Given the description of an element on the screen output the (x, y) to click on. 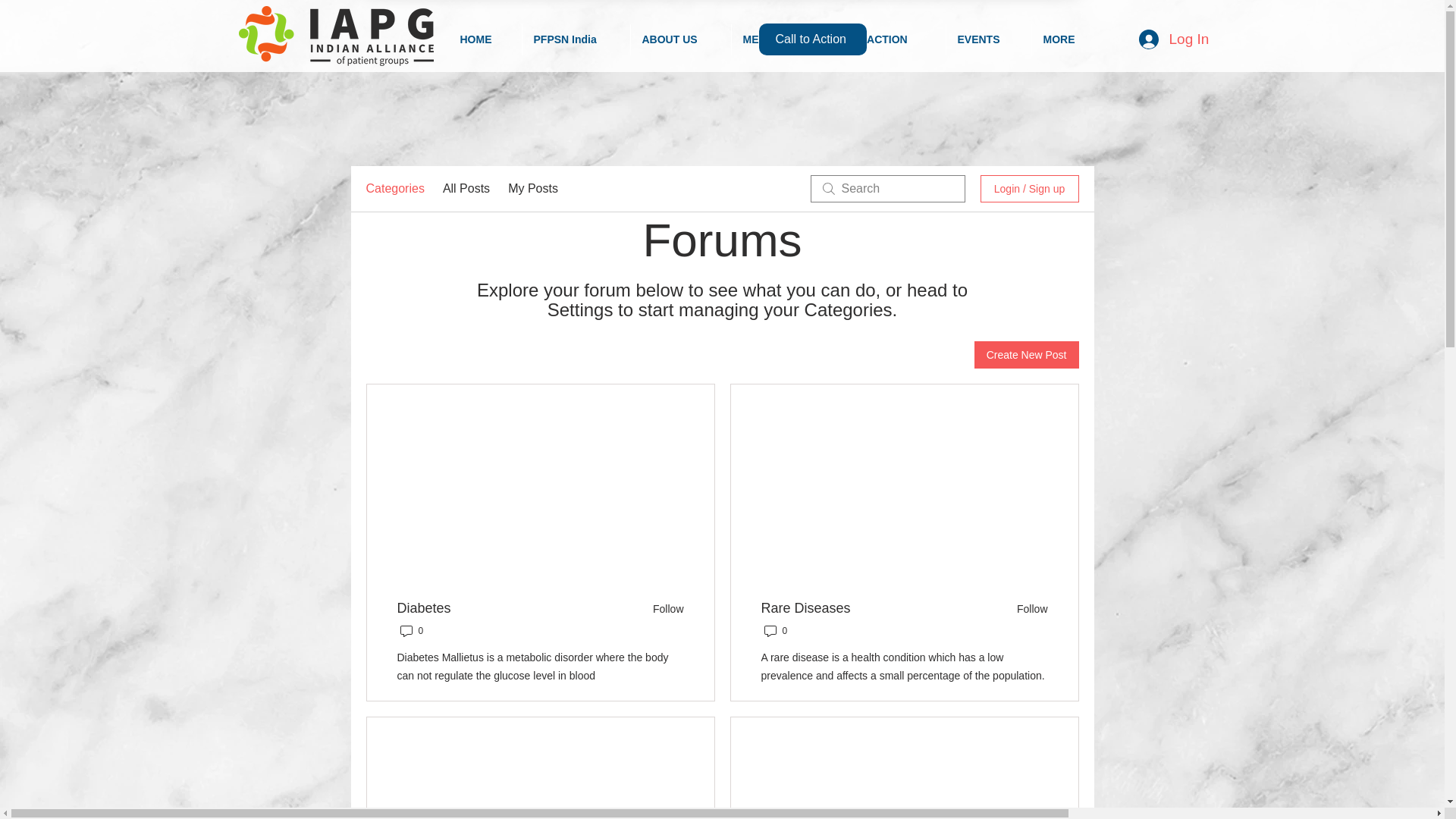
All Posts (465, 188)
Follow (1026, 607)
My Posts (532, 188)
Call to Action (812, 39)
Categories (394, 188)
Diabetes (424, 608)
CALL TO ACTION (875, 39)
Create New Post (1026, 354)
MEDIA (768, 39)
Follow (662, 607)
HOME (484, 39)
PFPSN India (574, 39)
Rare Diseases (805, 608)
EVENTS (988, 39)
Log In (1156, 39)
